Given the description of an element on the screen output the (x, y) to click on. 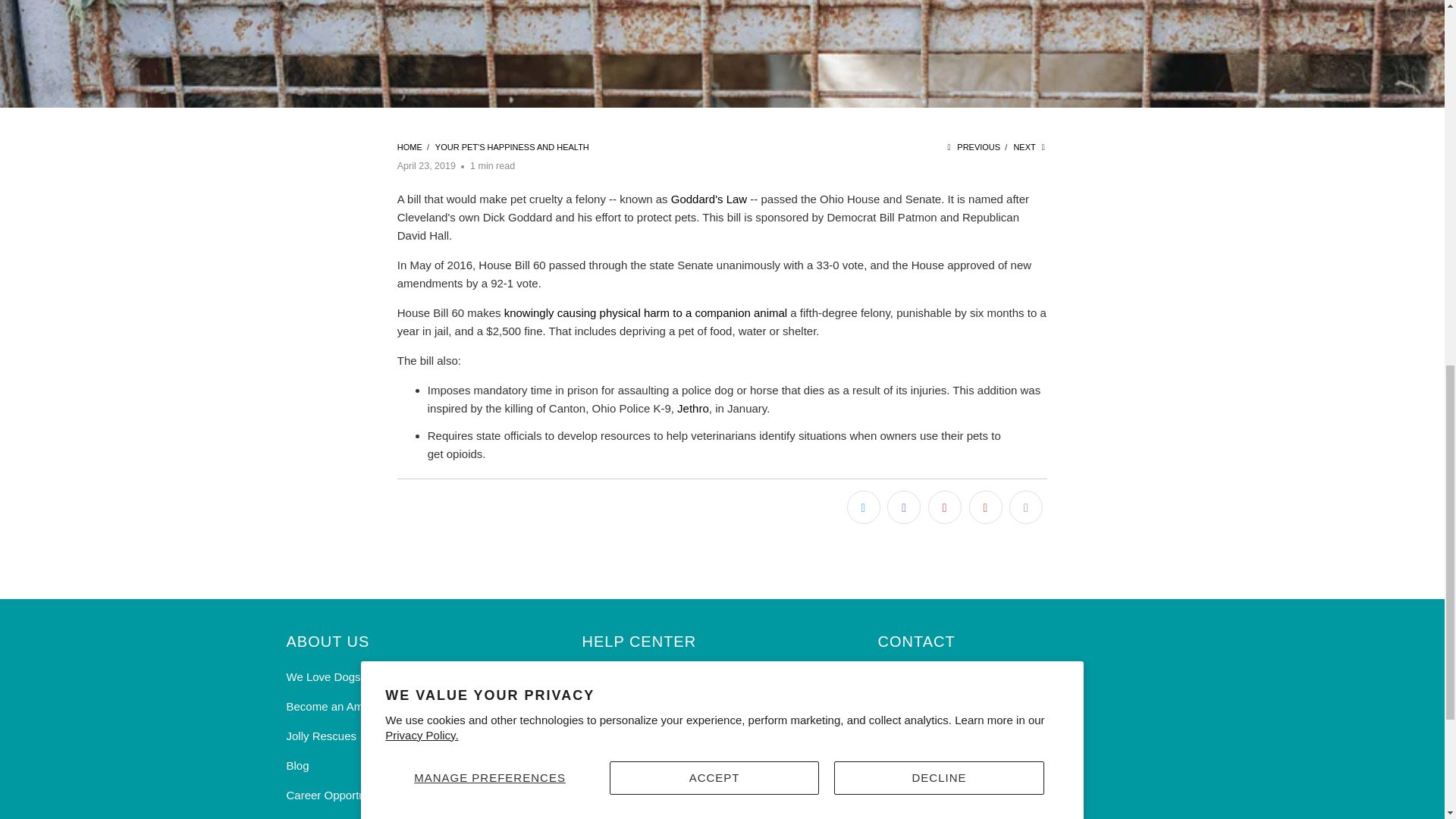
Share this on Facebook (903, 507)
Share this on Pinterest (944, 507)
Officer Down Memorial: K9 Jethro (693, 408)
Your Pet's Happiness and Health (512, 146)
Share this on Twitter (863, 507)
Jolly Pets (409, 146)
The Ohio House of Representatives Goddard's Law Overview (708, 198)
How to Spot Animal Cruelty and What Actions to Take (645, 312)
